Given the description of an element on the screen output the (x, y) to click on. 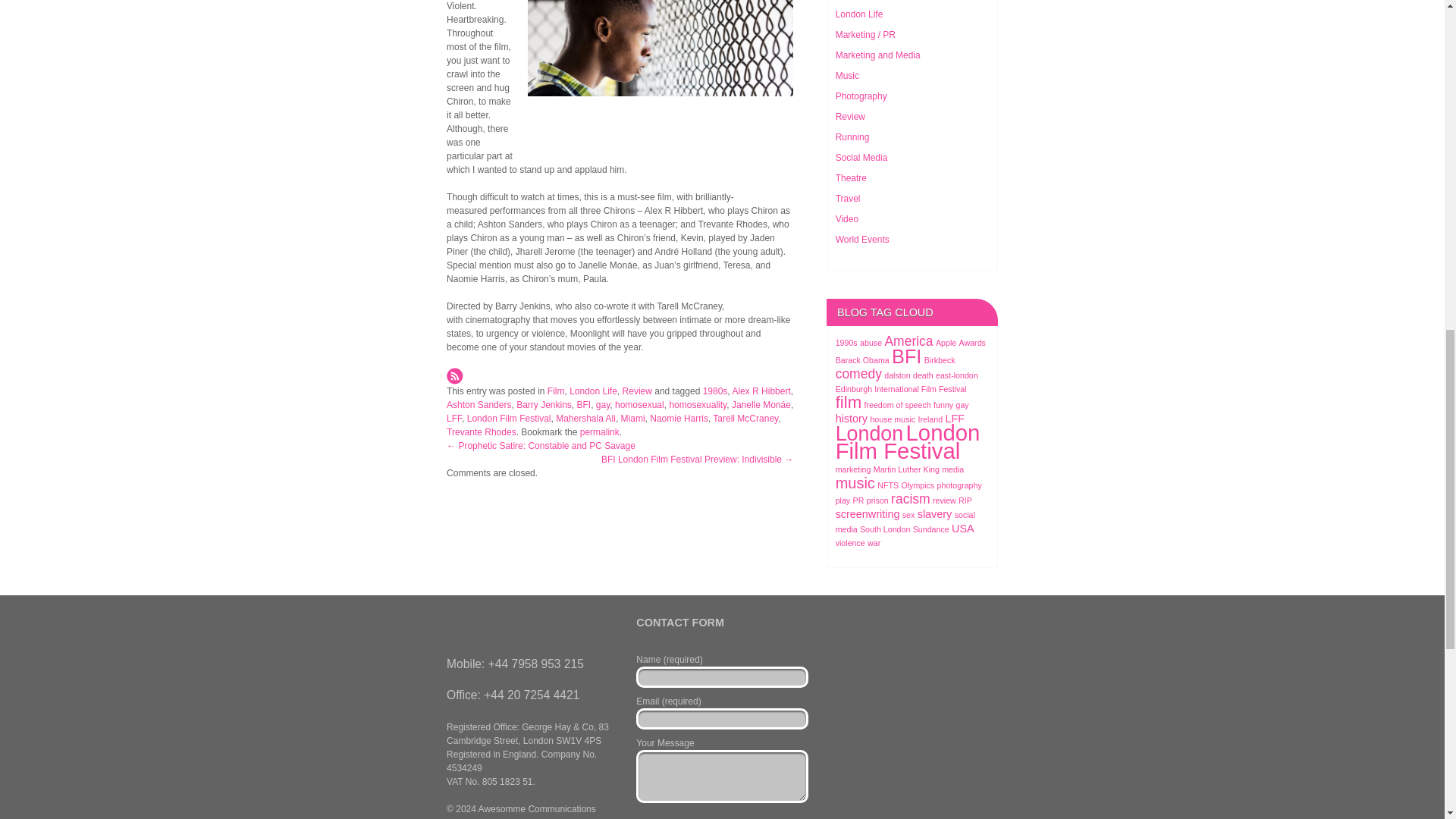
LFF (453, 418)
Subscribe to awesomecomms soapbox (454, 375)
homosexuality (697, 404)
Ashton Sanders (478, 404)
Alex R Hibbert (761, 390)
London Film Festival (509, 418)
1980s (715, 390)
Tarell McCraney (745, 418)
Barry Jenkins (544, 404)
Film (555, 390)
